Given the description of an element on the screen output the (x, y) to click on. 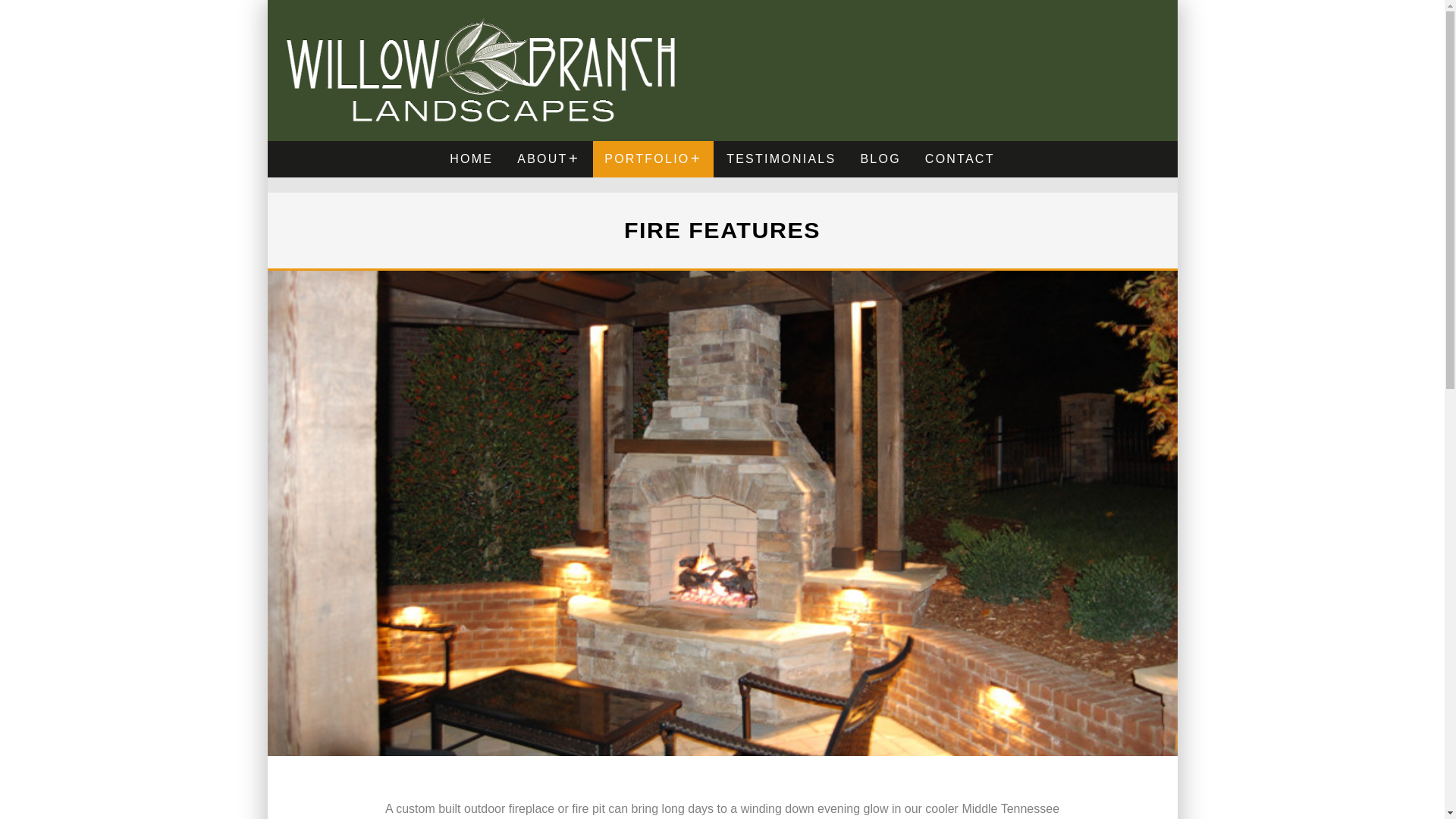
BLOG (879, 158)
TESTIMONIALS (780, 158)
CONTACT (960, 158)
HOME (470, 158)
